Given the description of an element on the screen output the (x, y) to click on. 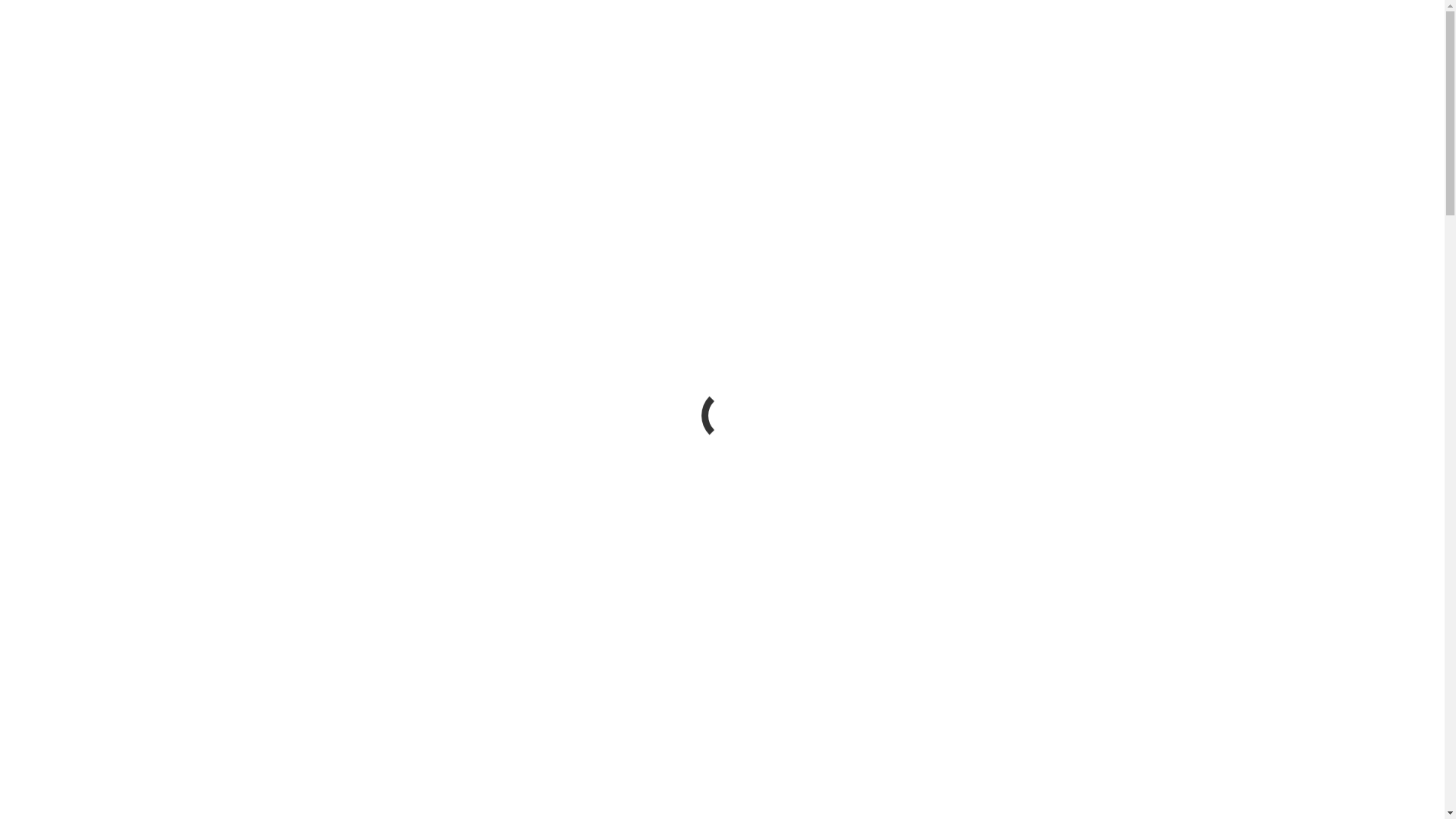
FAQs For Pet Owners Element type: text (119, 607)
Pet Owners Element type: text (64, 363)
Home Element type: text (50, 226)
Useful Links Element type: text (97, 294)
Contact Element type: text (55, 634)
Oncology Team Element type: text (105, 498)
Veterinarians Element type: text (68, 308)
Veterinarians Element type: text (98, 322)
Request an consultation Element type: text (83, 200)
About Us Element type: text (89, 253)
Home Element type: text (50, 443)
Referrals Element type: text (88, 349)
Contact Element type: text (55, 417)
Pet Owners Element type: text (94, 593)
Skip to content Element type: text (5, 5)
Search Element type: text (22, 25)
FAQs For Pet Owners Element type: text (119, 390)
Oncology Team Element type: text (105, 281)
Services Element type: text (86, 484)
Veterinarians Element type: text (68, 525)
About Element type: text (51, 457)
Veterinarians Element type: text (98, 539)
Stories Element type: text (52, 621)
Pet Owners Element type: text (94, 376)
Referrals Element type: text (88, 566)
About Us Element type: text (89, 470)
Useful Links Element type: text (97, 511)
Stories Element type: text (52, 404)
Go! Element type: text (20, 57)
Services Element type: text (86, 267)
Pet Owners Element type: text (64, 580)
About Element type: text (51, 240)
Search form Element type: hover (73, 41)
FAQs for Veterinarians Element type: text (122, 335)
FAQs for Veterinarians Element type: text (122, 552)
